Given the description of an element on the screen output the (x, y) to click on. 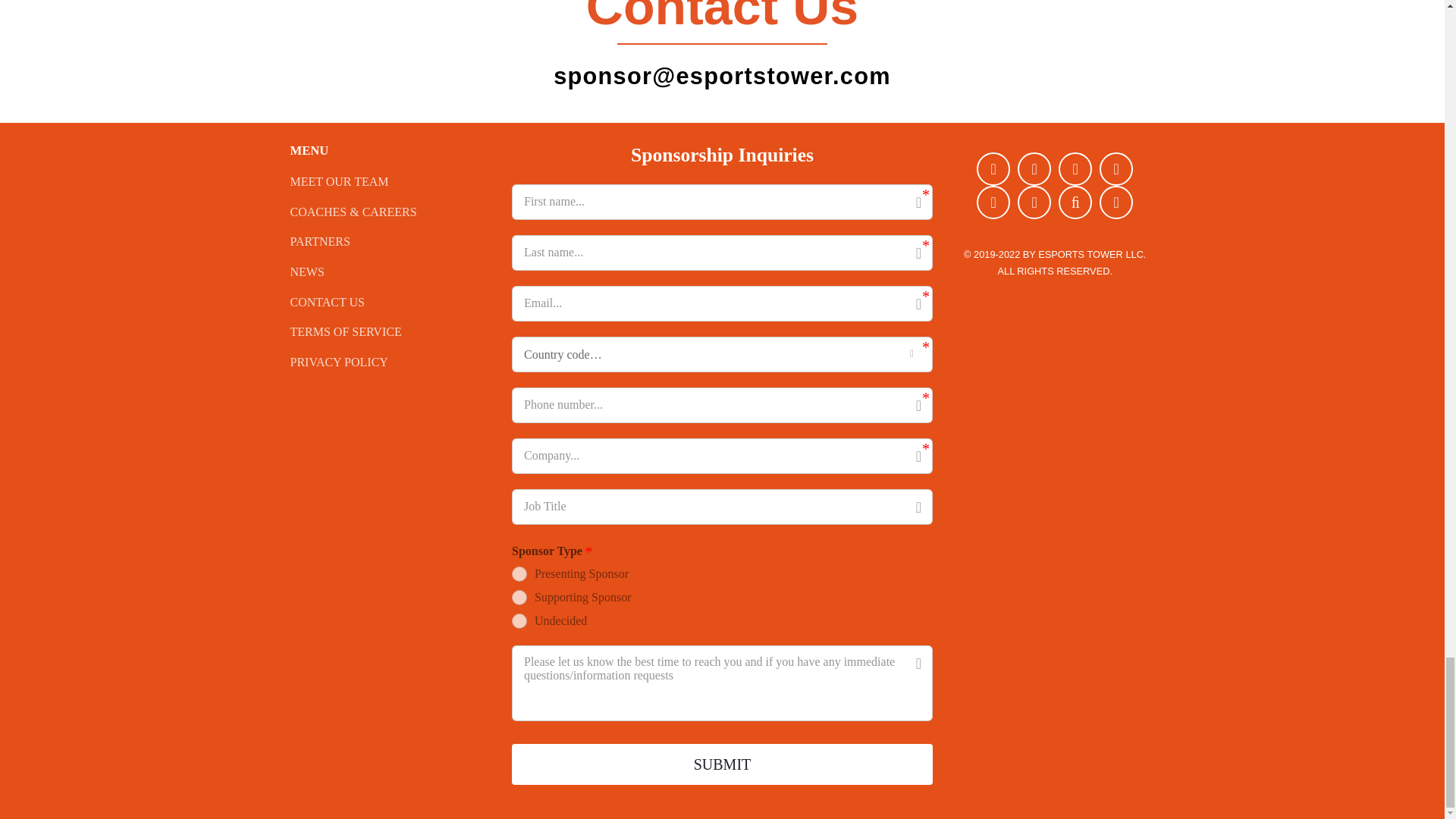
CONTACT US (389, 302)
NEWS (389, 272)
MEET OUR TEAM (389, 181)
PARTNERS (389, 241)
